Given the description of an element on the screen output the (x, y) to click on. 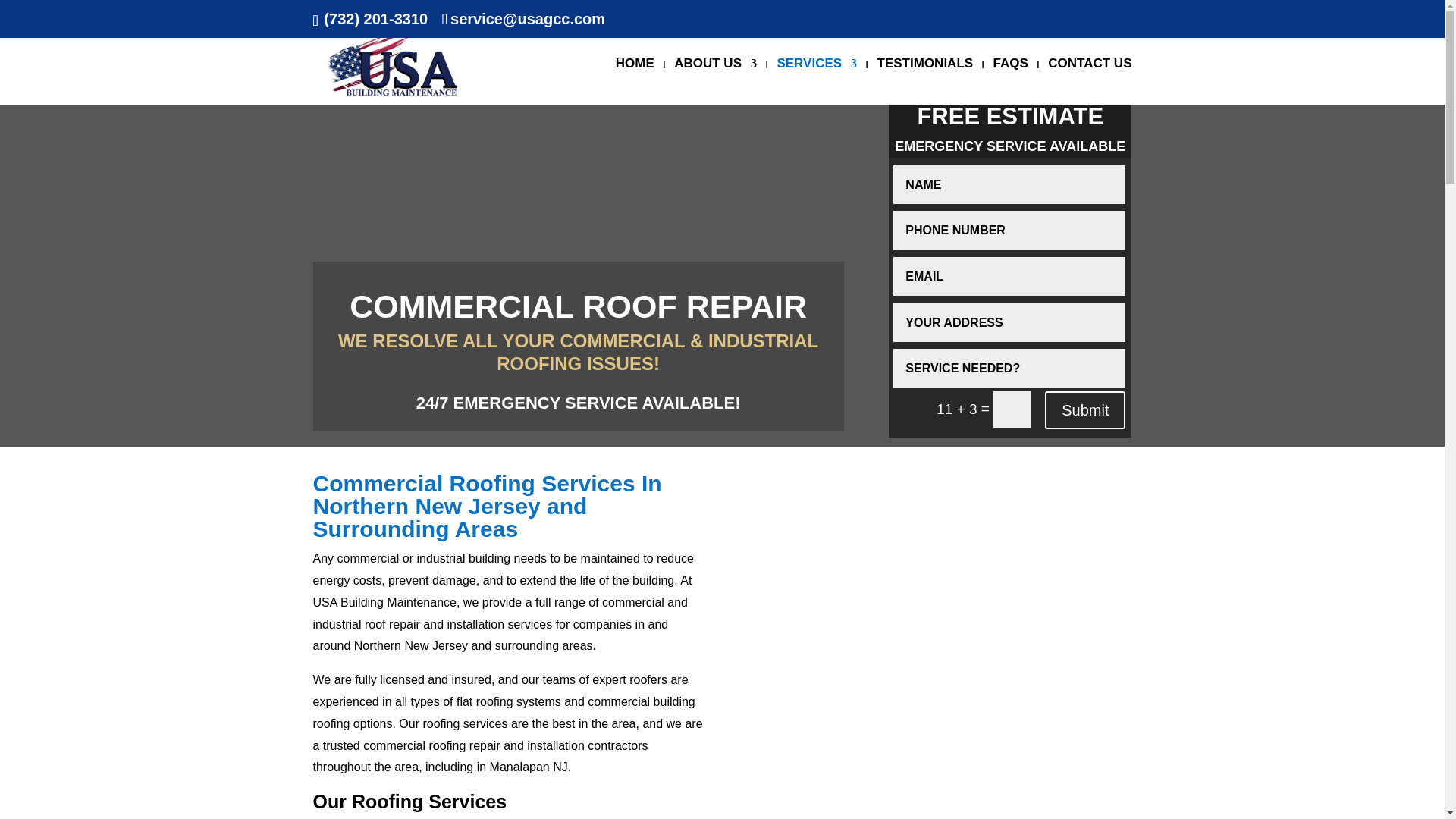
Testimonials (925, 81)
TESTIMONIALS (925, 81)
SERVICES (816, 81)
CONTACT US (1089, 81)
Contact Us (1089, 81)
ABOUT US (715, 81)
Services (816, 81)
Submit (1085, 410)
About Us (715, 81)
